Given the description of an element on the screen output the (x, y) to click on. 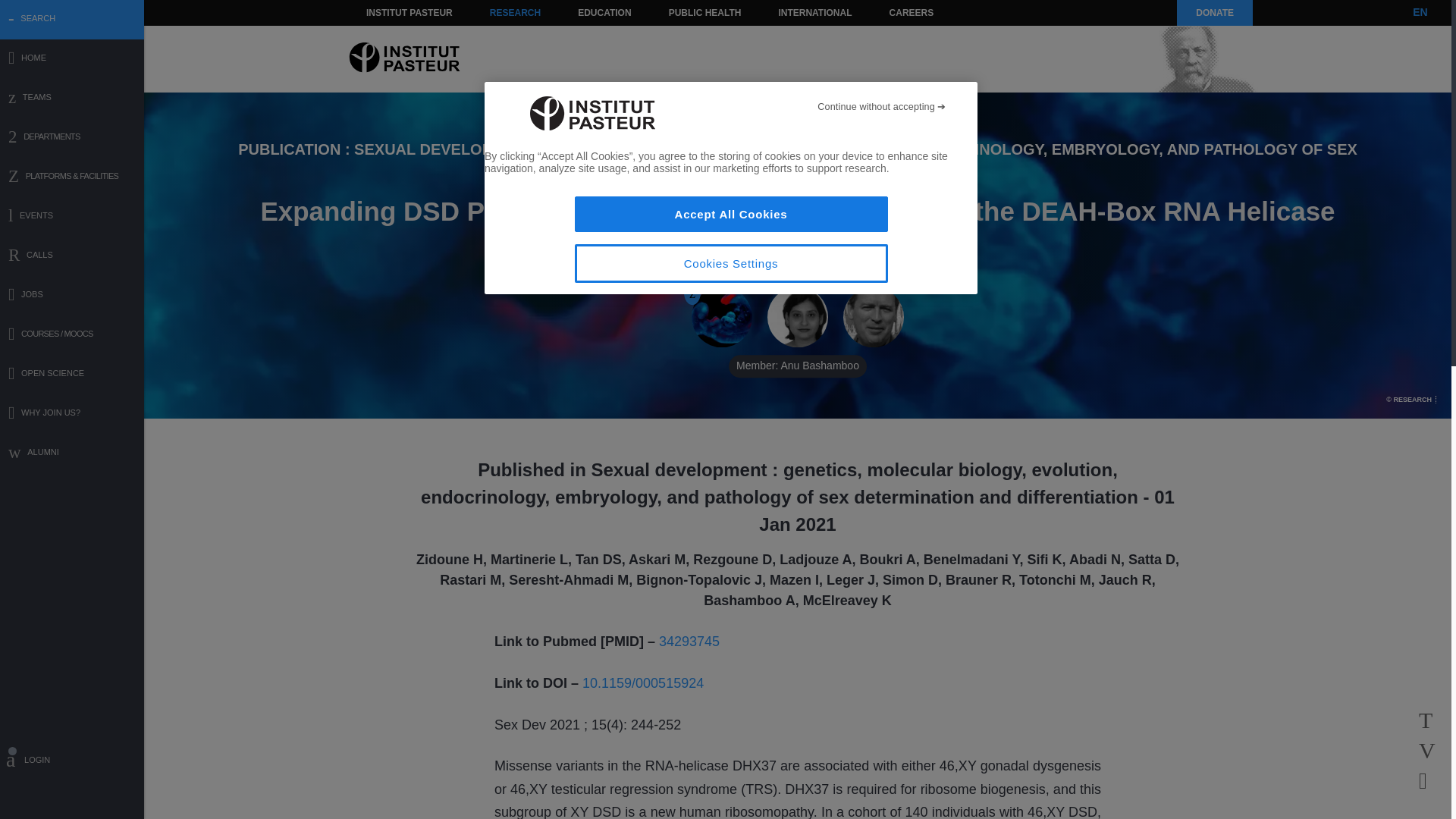
PUBLIC HEALTH (705, 12)
CALLS (72, 256)
DEPARTMENTS (72, 137)
CAREERS (911, 12)
Skip to content (387, 11)
34293745 (689, 641)
INTERNATIONAL (814, 12)
HOME (72, 59)
RESEARCH (515, 12)
Skip to content (387, 11)
Member: Anu Bashamboo (797, 317)
OPEN SCIENCE (72, 374)
EN (1419, 11)
DONATE (1214, 12)
EVENTS (72, 217)
